Given the description of an element on the screen output the (x, y) to click on. 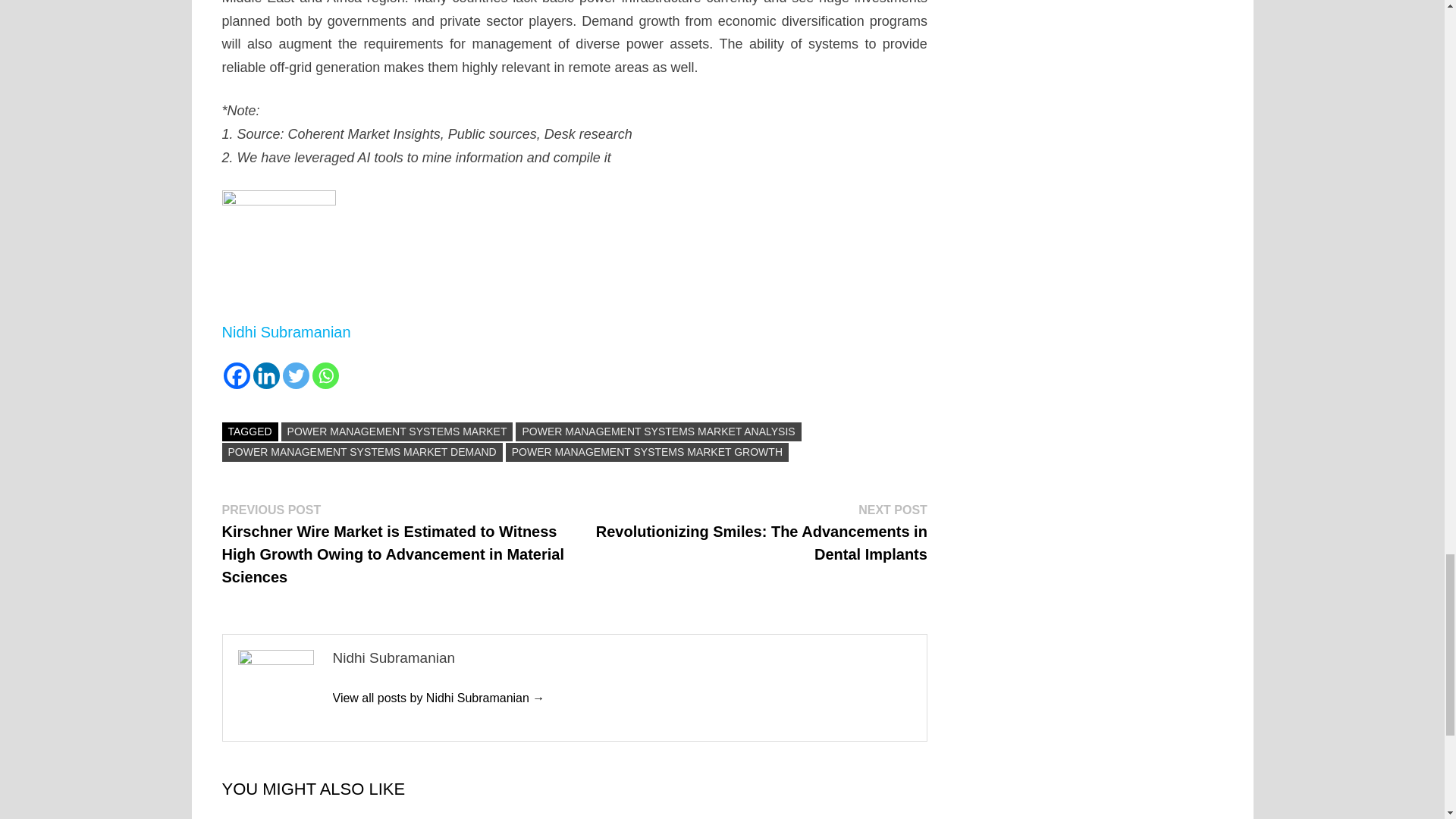
Facebook (235, 375)
Nidhi Subramanian (437, 697)
Linkedin (266, 375)
Twitter (295, 375)
Whatsapp (326, 375)
